Given the description of an element on the screen output the (x, y) to click on. 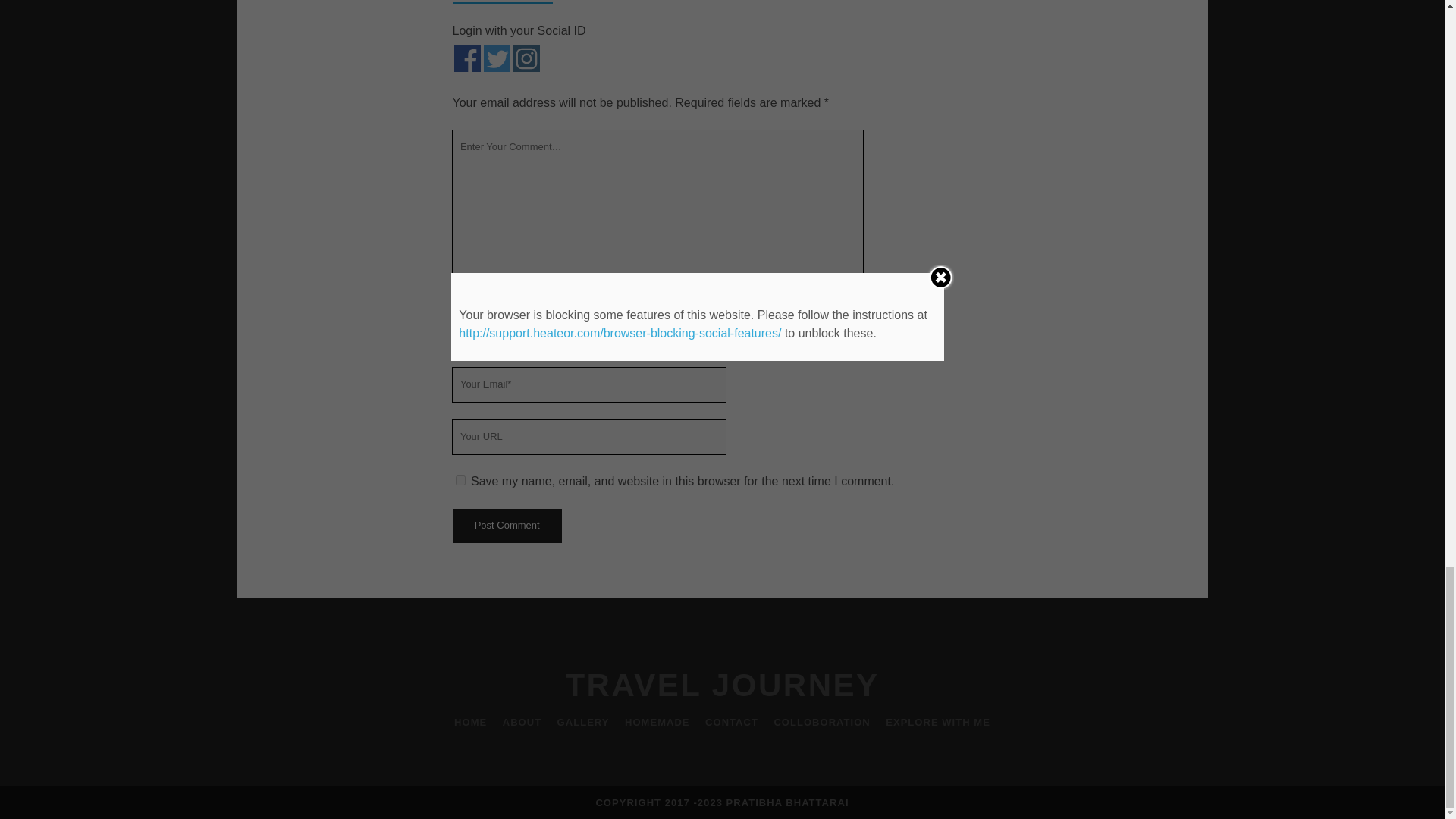
Post Comment (505, 525)
yes (459, 480)
